Given the description of an element on the screen output the (x, y) to click on. 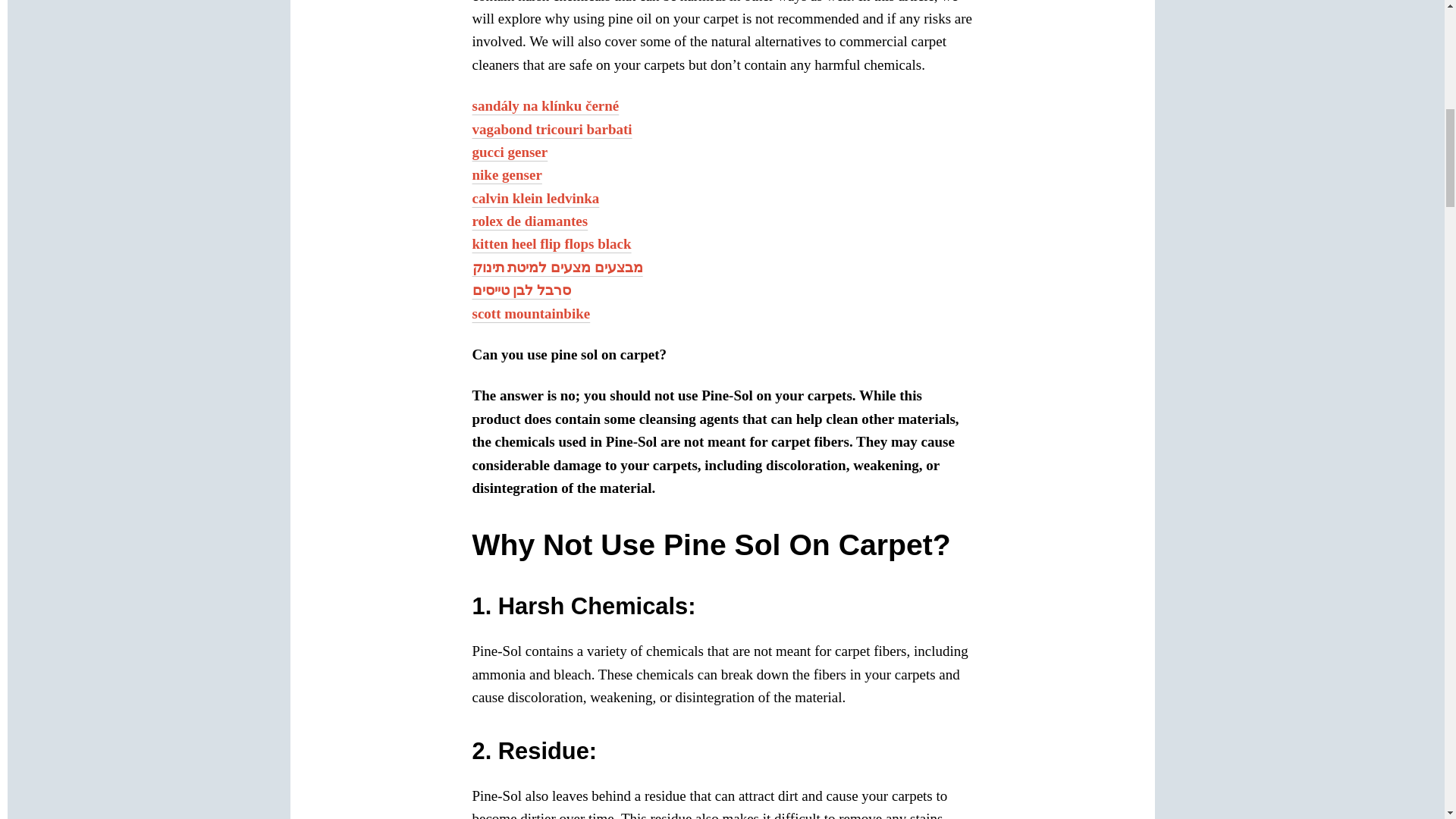
kitten heel flip flops black (550, 243)
gucci genser (509, 151)
vagabond tricouri barbati (551, 129)
rolex de diamantes (529, 220)
calvin klein ledvinka (534, 198)
nike genser (506, 174)
scott mountainbike (530, 313)
